Given the description of an element on the screen output the (x, y) to click on. 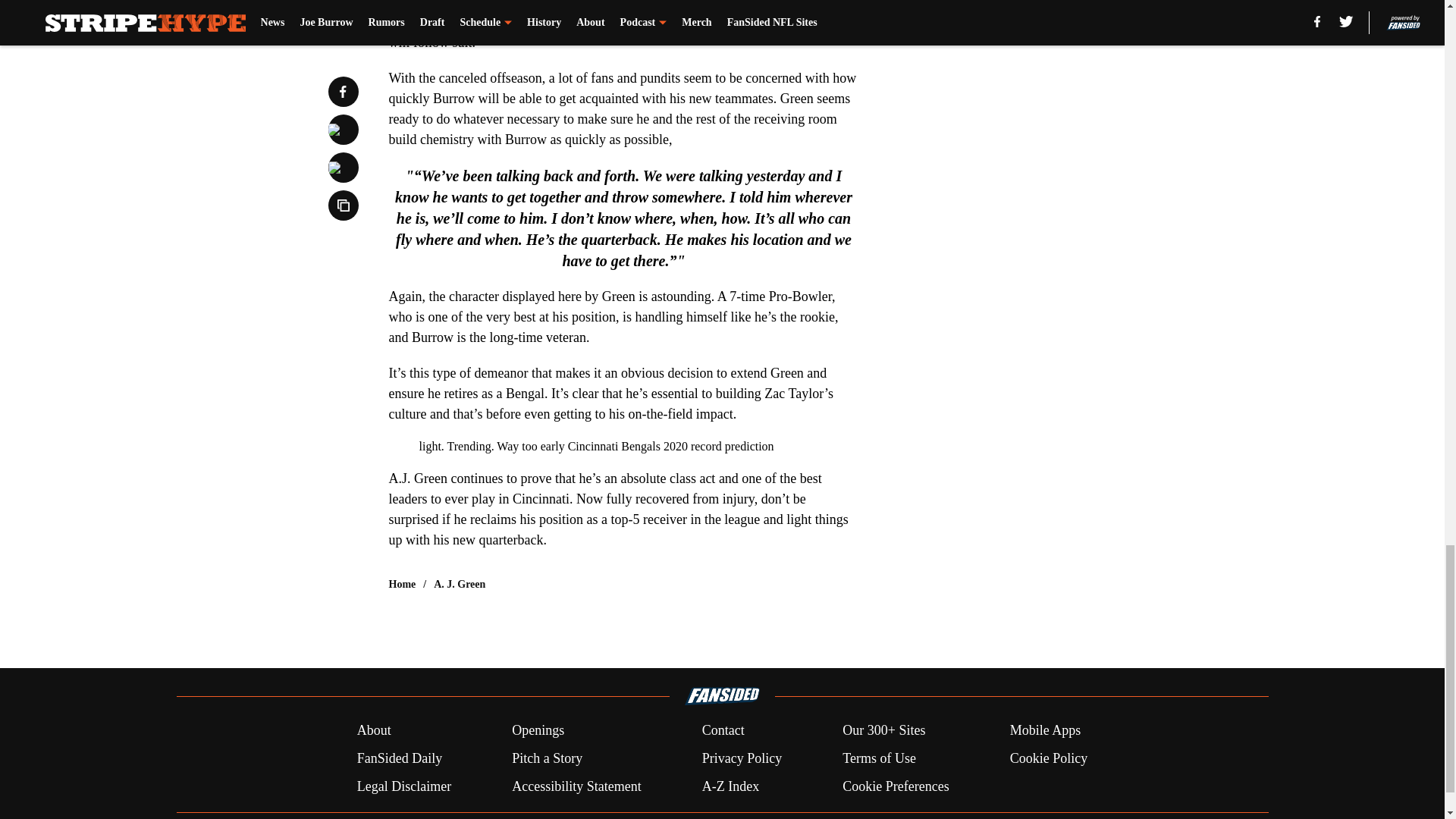
Mobile Apps (1045, 730)
Cookie Policy (1048, 758)
Legal Disclaimer (403, 786)
Home (401, 584)
A. J. Green (458, 584)
Contact (722, 730)
FanSided Daily (399, 758)
Privacy Policy (742, 758)
Terms of Use (879, 758)
Accessibility Statement (576, 786)
